Given the description of an element on the screen output the (x, y) to click on. 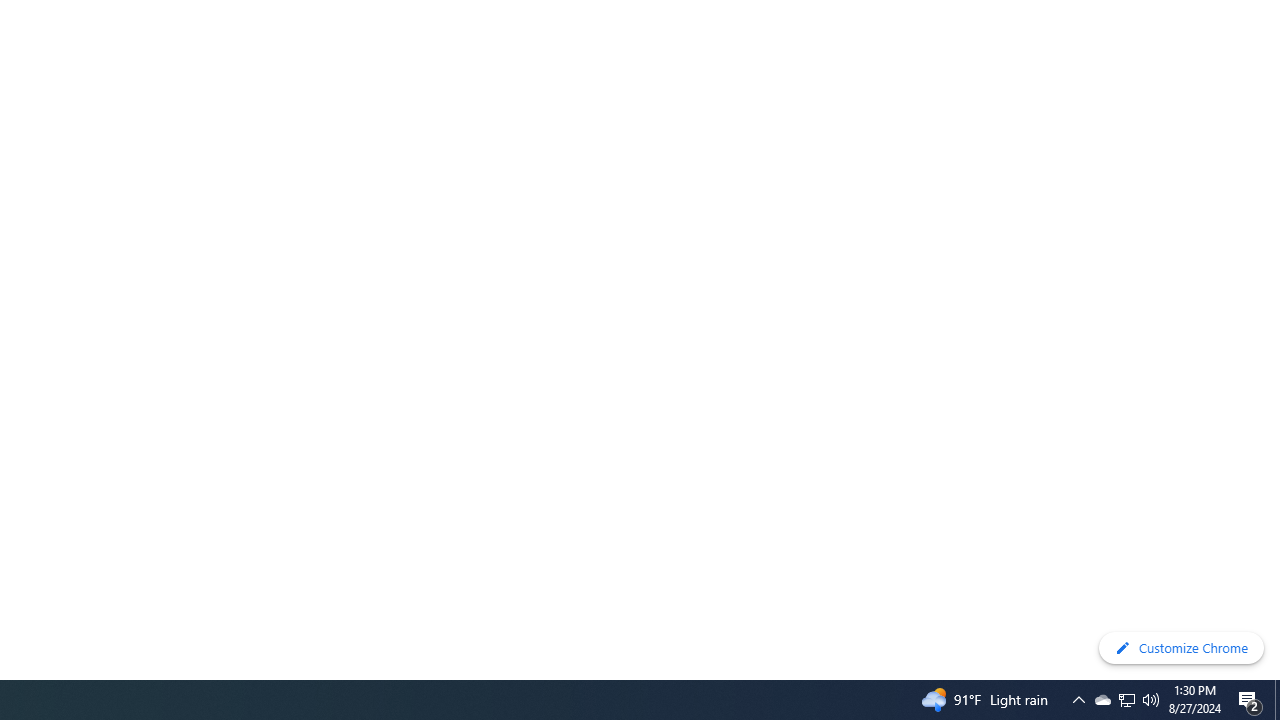
Customize Chrome (1181, 647)
